Given the description of an element on the screen output the (x, y) to click on. 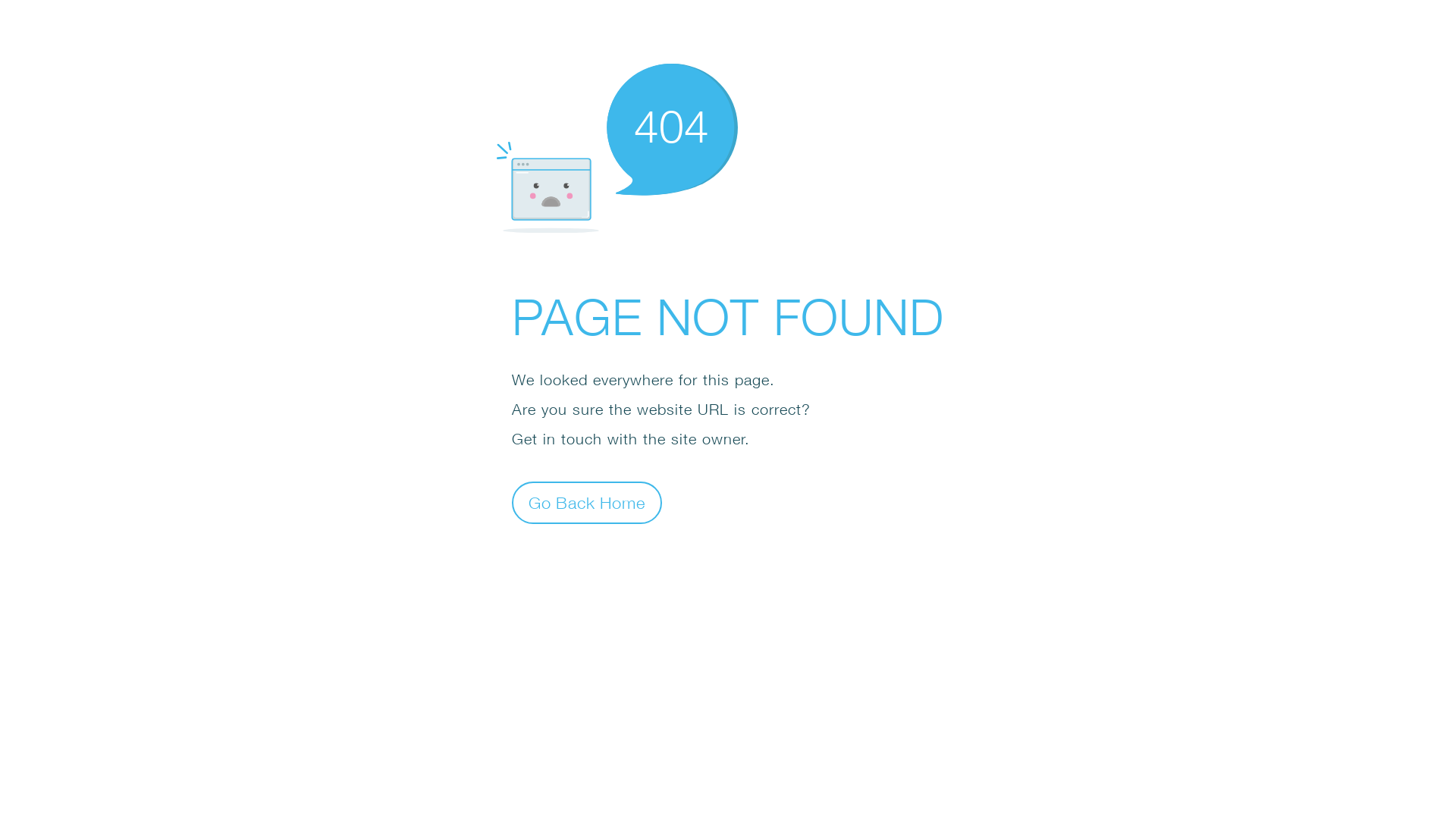
Go Back Home Element type: text (586, 502)
